Given the description of an element on the screen output the (x, y) to click on. 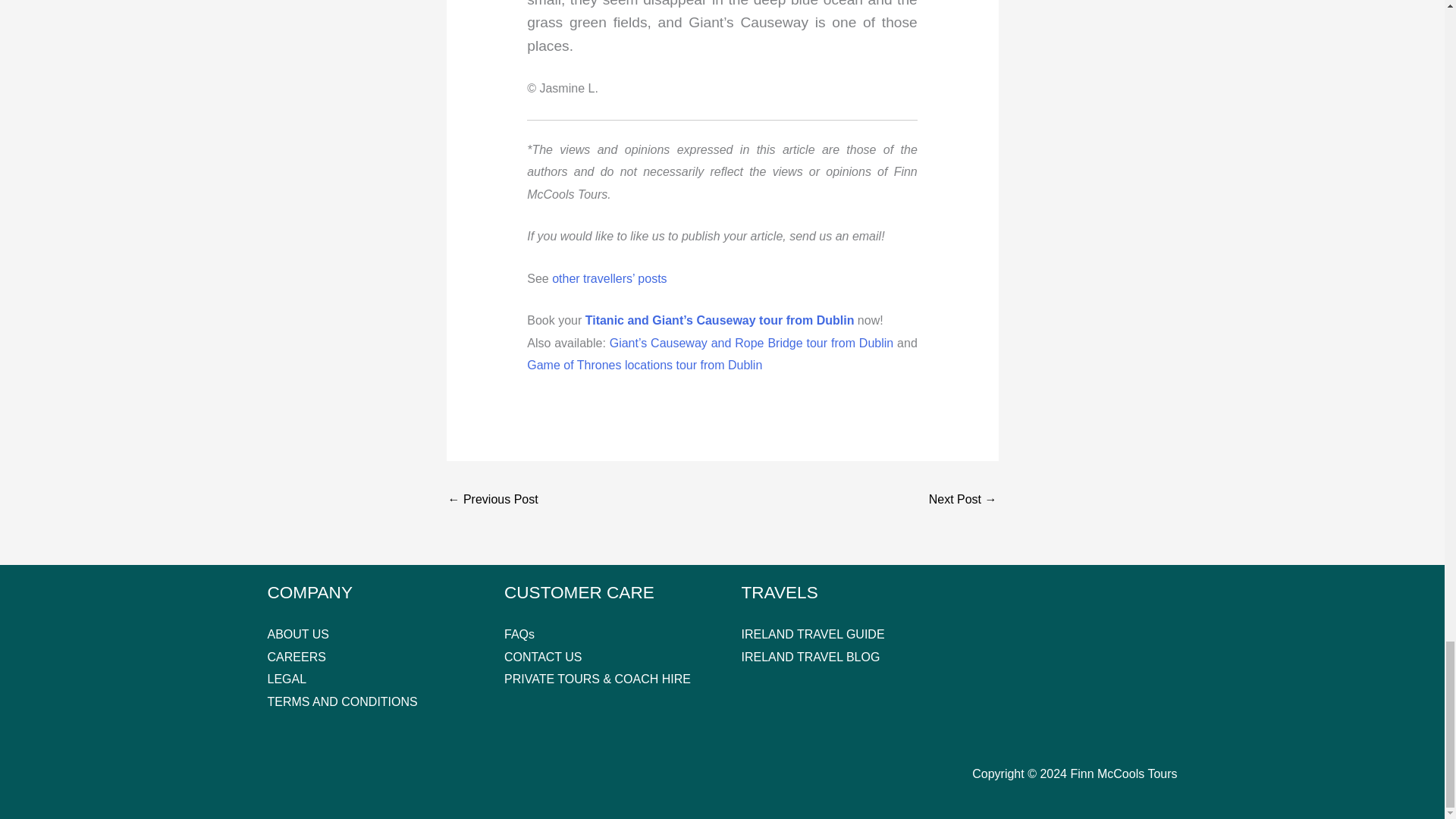
Cliffs of Moher (491, 500)
Unforgettable day at the Cliffs of Moher (962, 500)
Game of Thrones locations tour from Dublin (644, 364)
